Given the description of an element on the screen output the (x, y) to click on. 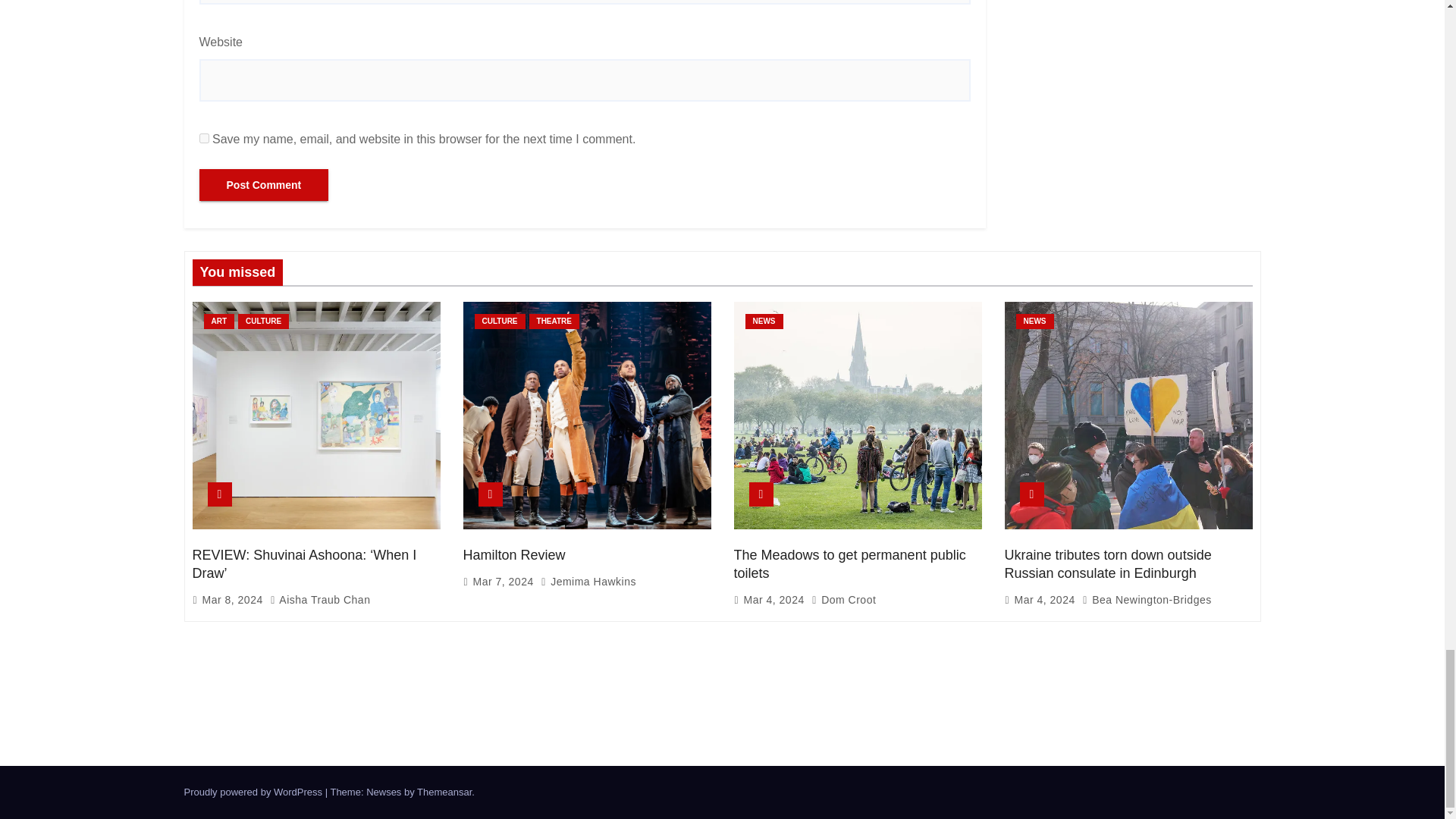
Post Comment (263, 184)
yes (203, 138)
